Given the description of an element on the screen output the (x, y) to click on. 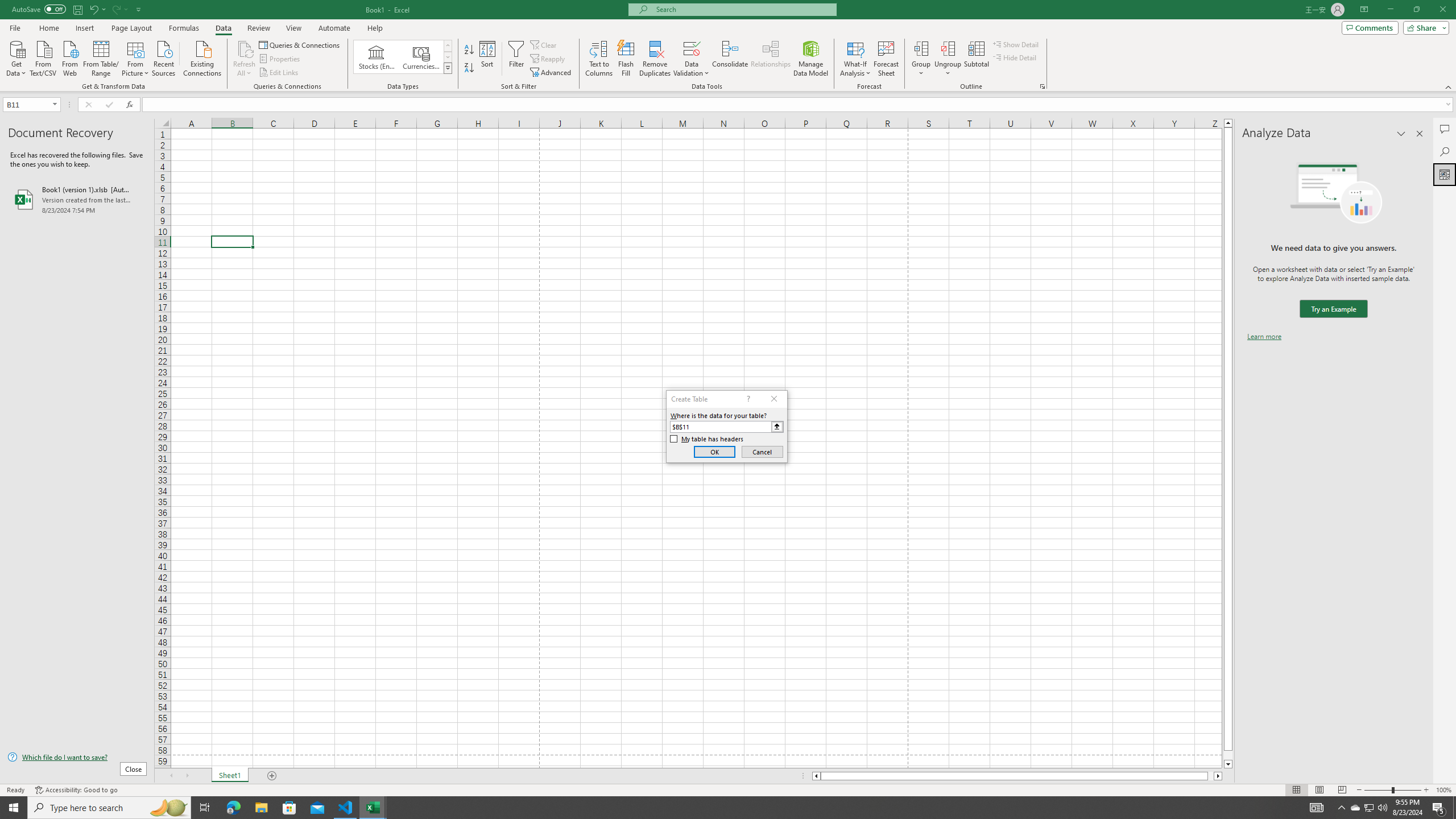
Existing Connections (202, 57)
Formula Bar (799, 104)
Close pane (1419, 133)
Queries & Connections (300, 44)
From Table/Range (100, 57)
Manage Data Model (810, 58)
